Given the description of an element on the screen output the (x, y) to click on. 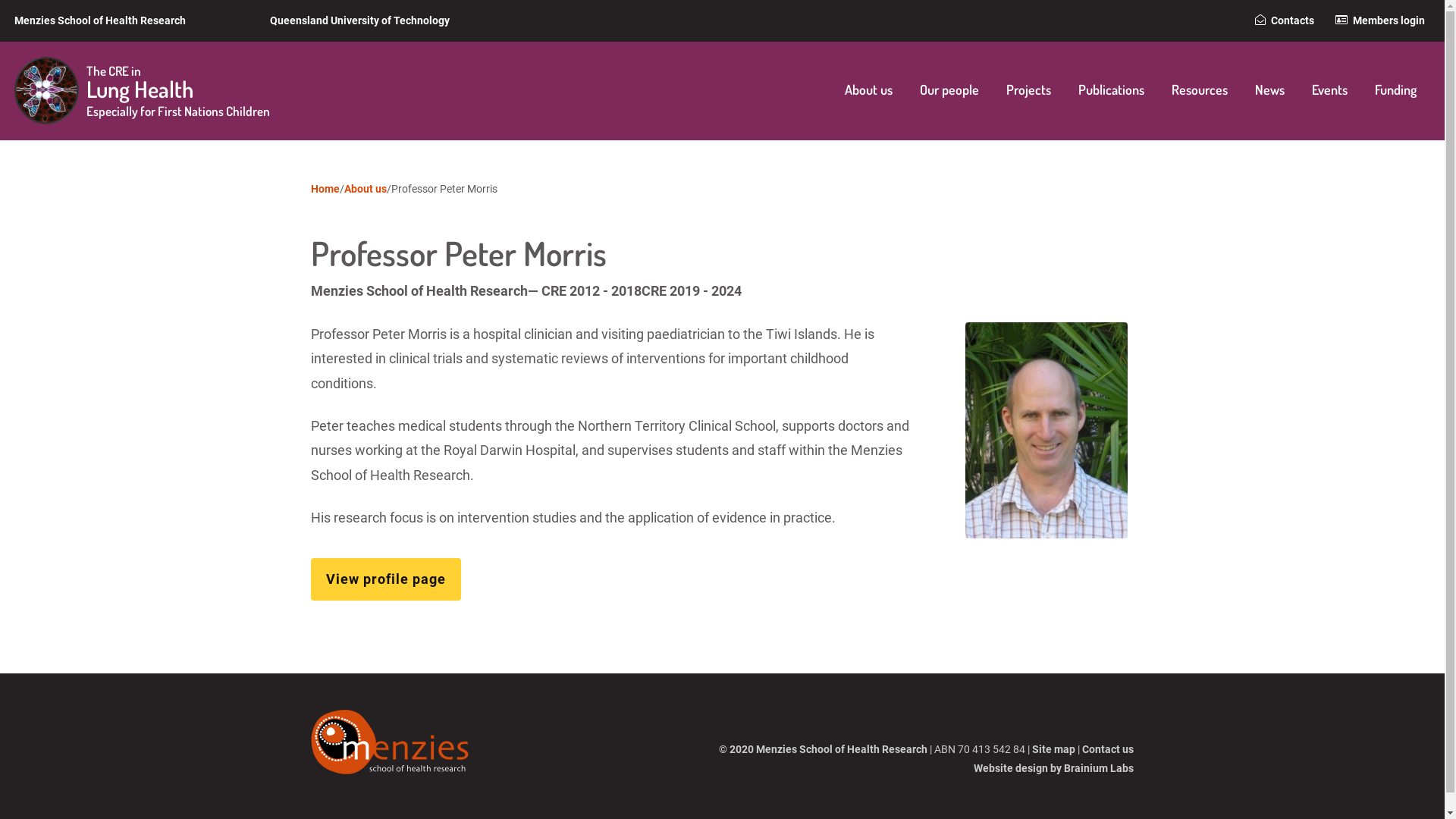
Home Element type: text (324, 188)
About us Element type: text (365, 188)
Resources Element type: text (1199, 90)
Site map Element type: text (1053, 749)
News Element type: text (1269, 90)
Menzies School of Health Research Element type: text (99, 20)
Events Element type: text (1329, 90)
Skip to main content Element type: text (0, 0)
View profile page Element type: text (385, 579)
Website design by Brainium Labs Element type: text (1053, 768)
About us Element type: text (868, 90)
Contact us Element type: text (1107, 749)
Queensland University of Technology Element type: text (359, 20)
The CRE in
Lung Health
Especially for First Nations Children Element type: text (150, 90)
Members login Element type: text (1380, 20)
Contacts Element type: text (1284, 20)
Publications Element type: text (1110, 90)
